Given the description of an element on the screen output the (x, y) to click on. 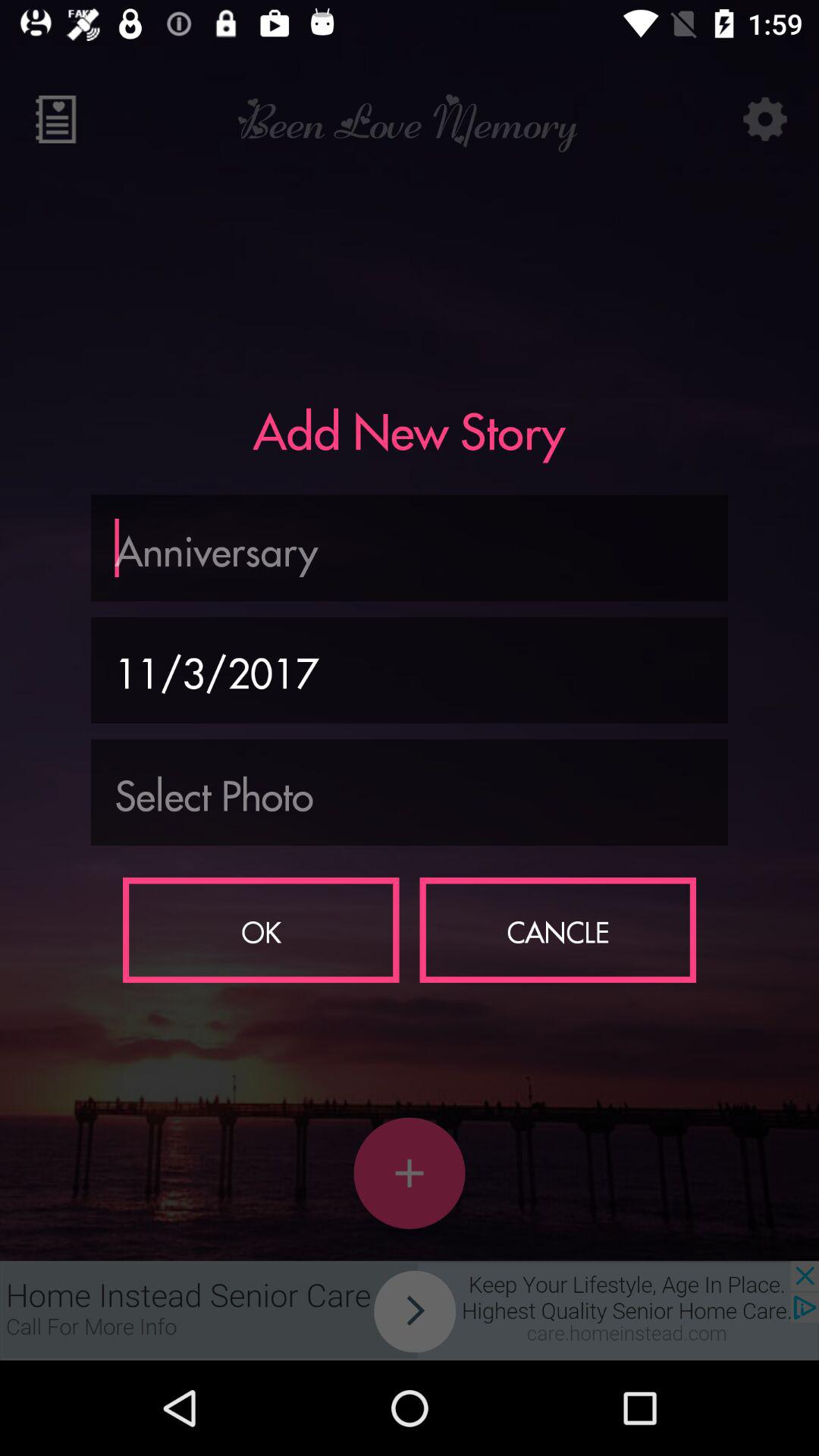
enter anniversary (409, 547)
